Given the description of an element on the screen output the (x, y) to click on. 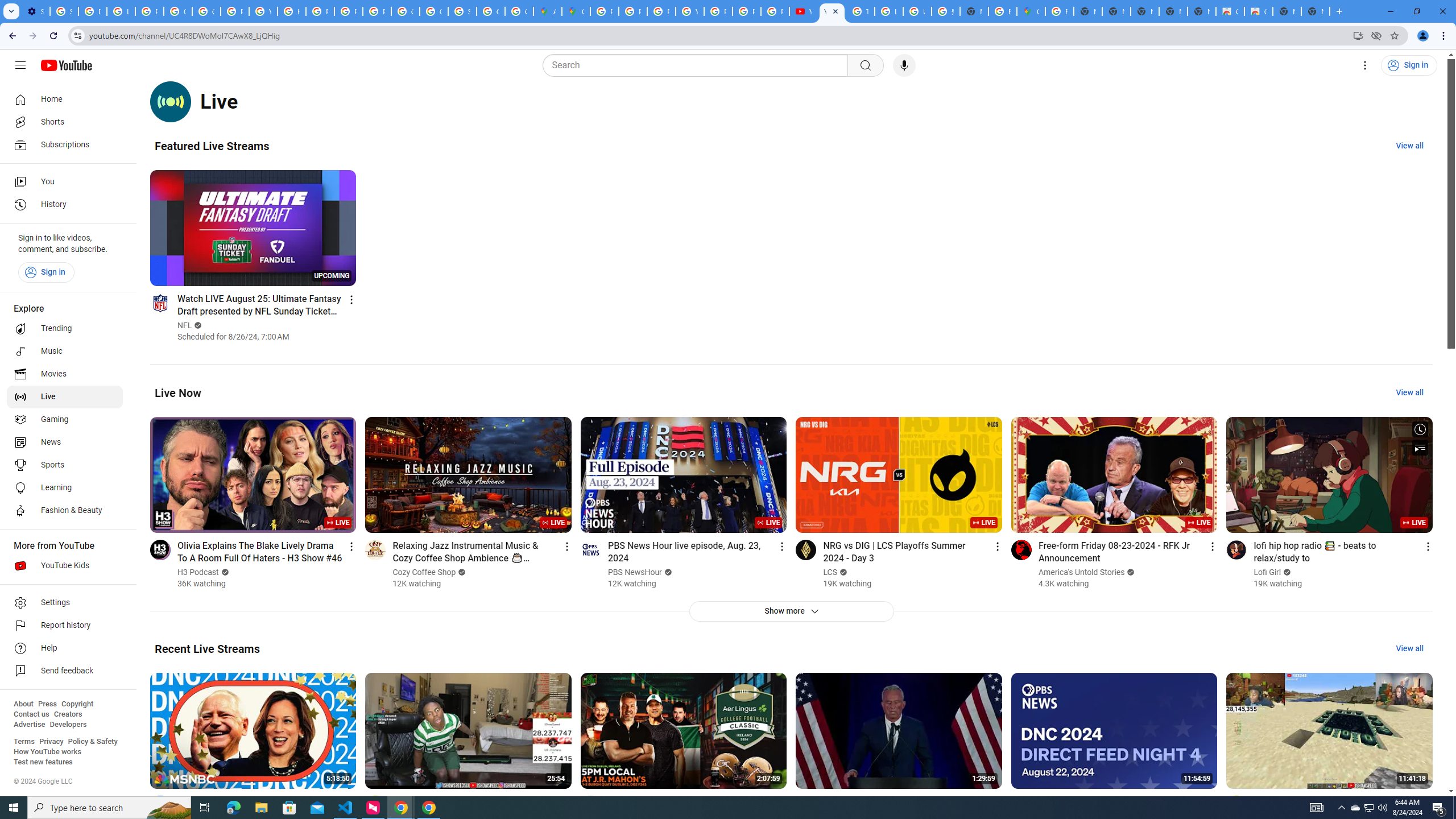
Trending (64, 328)
Copyright (77, 703)
Send feedback (64, 671)
Go to channel (1236, 805)
Action menu (1427, 802)
Privacy Checkup (774, 11)
Delete photos & videos - Computer - Google Photos Help (92, 11)
View all (1409, 648)
Classic Blue - Chrome Web Store (1230, 11)
Search with your voice (903, 65)
Settings (1365, 65)
Shorts (64, 121)
